Given the description of an element on the screen output the (x, y) to click on. 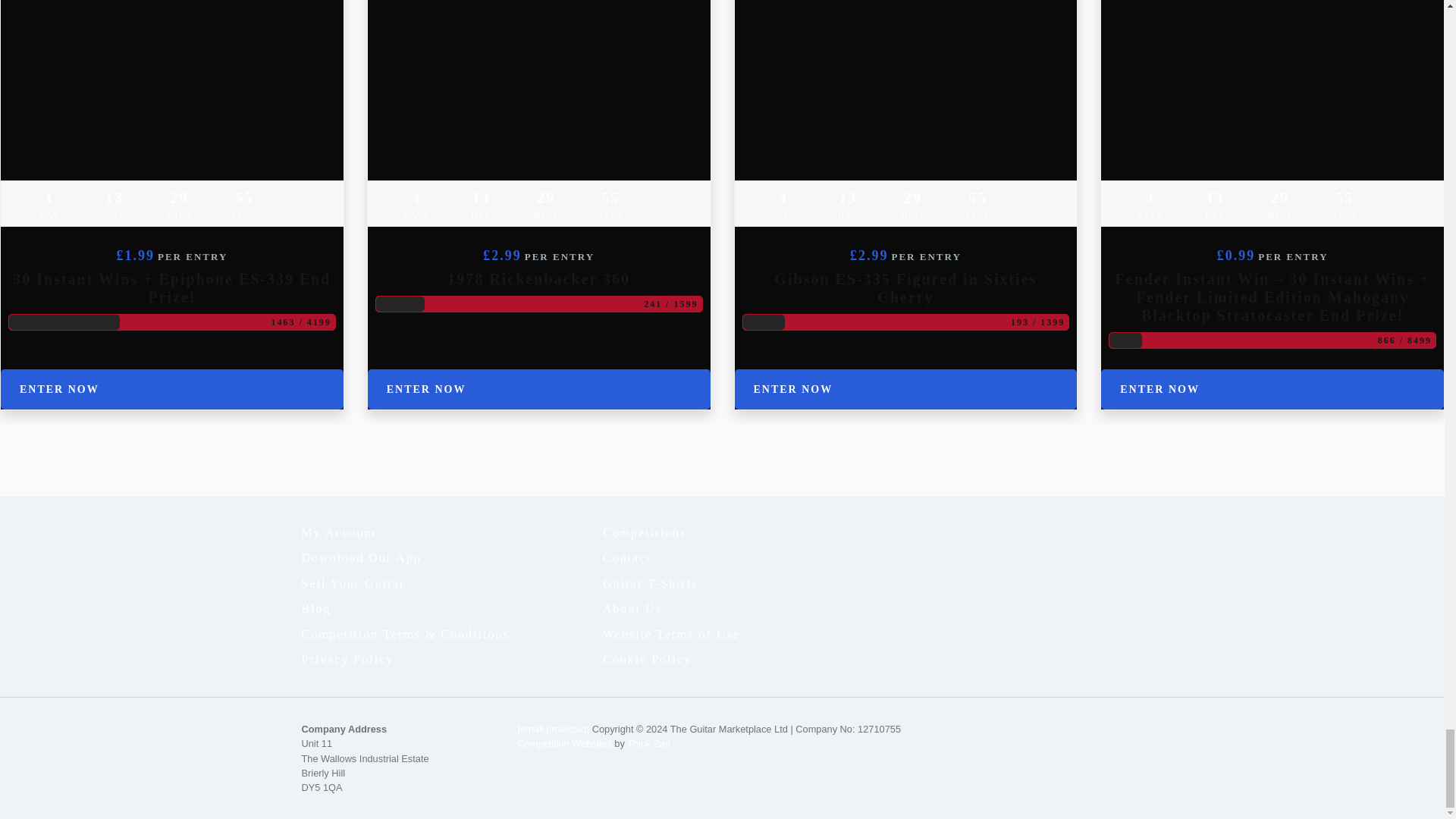
ENTER NOW (1272, 389)
ENTER NOW (539, 389)
My Account (452, 533)
ENTER NOW (905, 389)
ENTER NOW (172, 389)
